Given the description of an element on the screen output the (x, y) to click on. 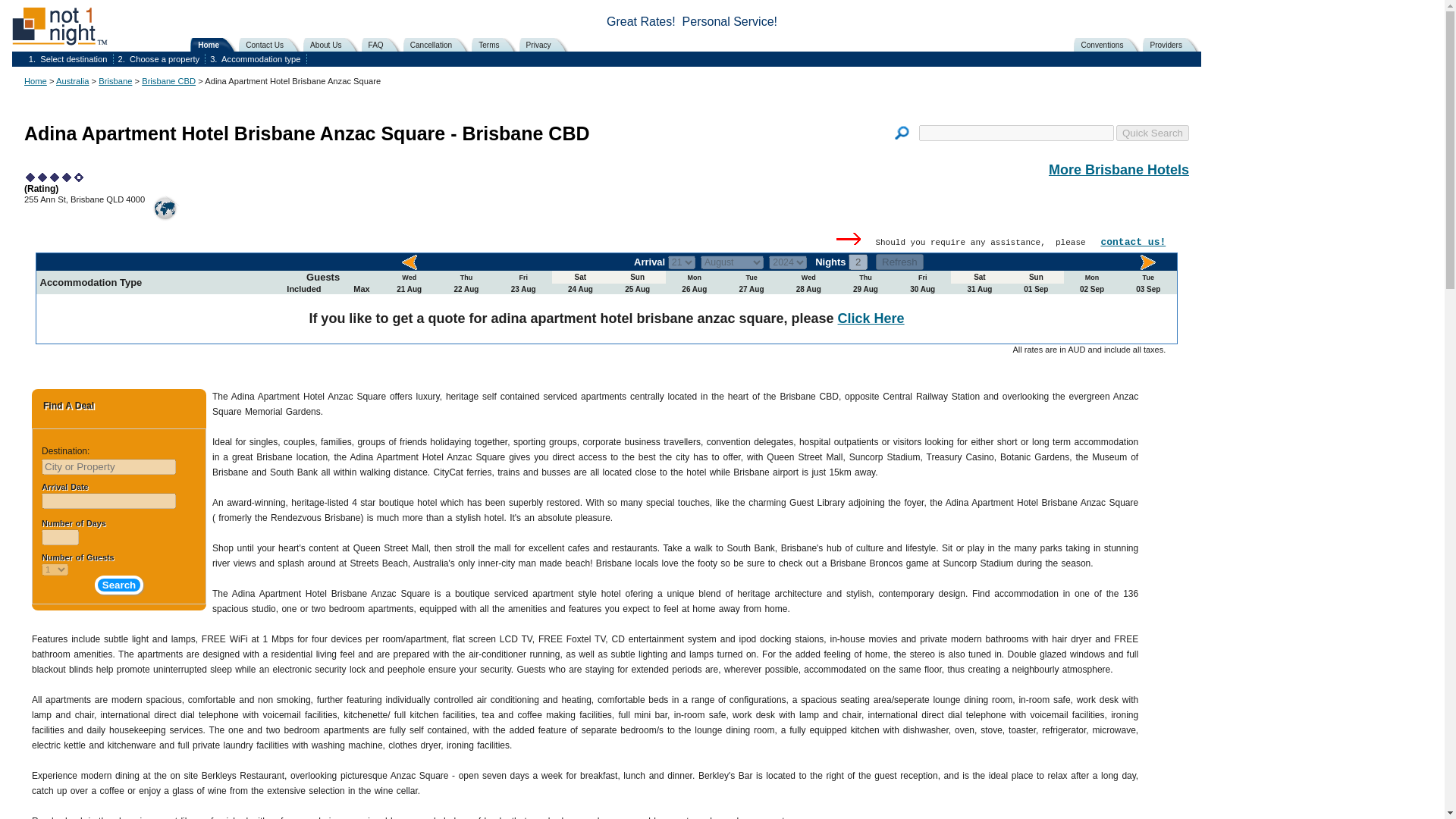
Quick Search (1152, 132)
Conventions (1109, 44)
FAQ (384, 44)
Click Here (871, 318)
Home (216, 44)
Brisbane (115, 80)
Home (35, 80)
Brisbane CBD (168, 80)
Refresh (899, 261)
Australia (72, 80)
